Given the description of an element on the screen output the (x, y) to click on. 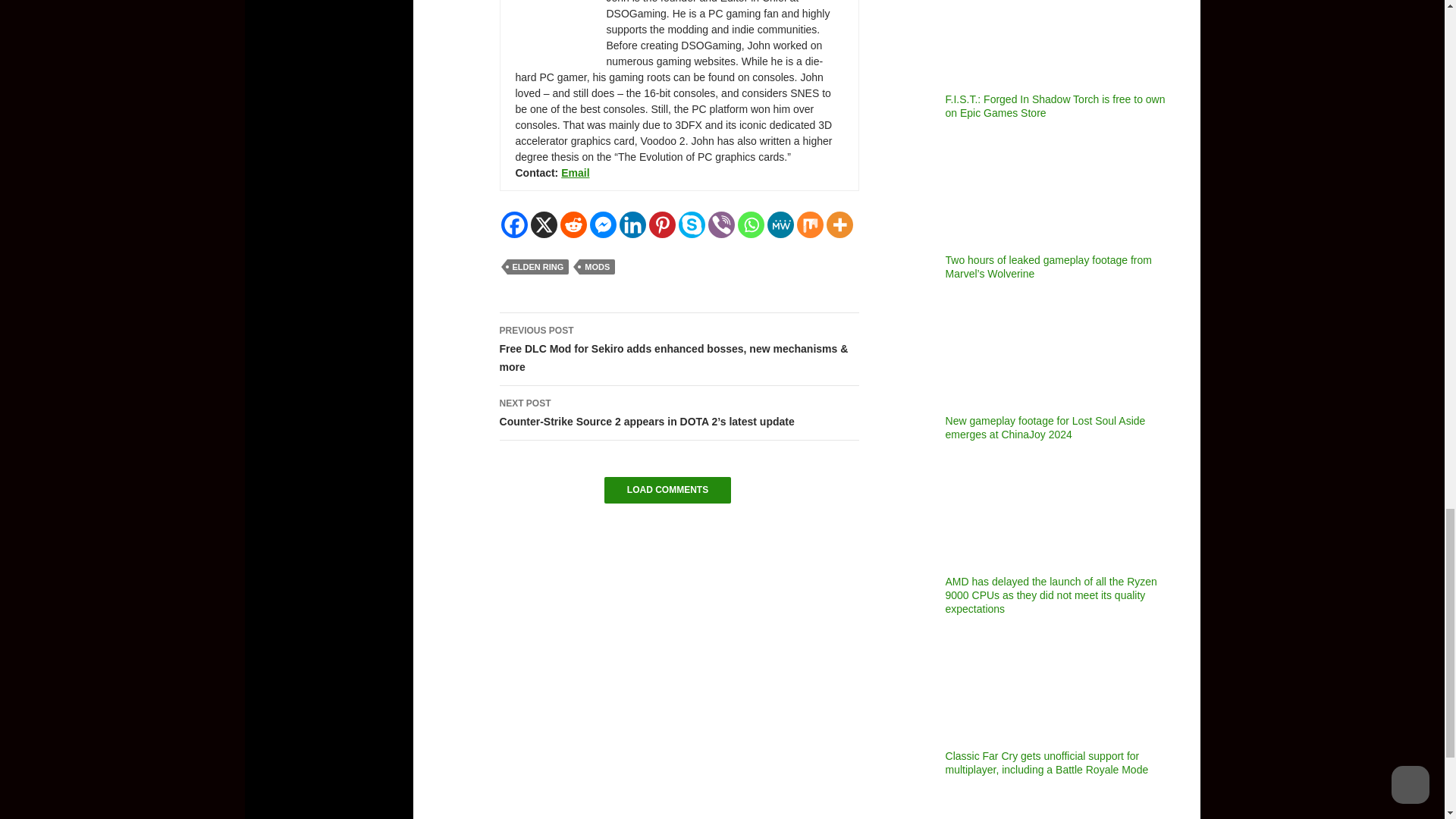
Facebook (513, 224)
